Given the description of an element on the screen output the (x, y) to click on. 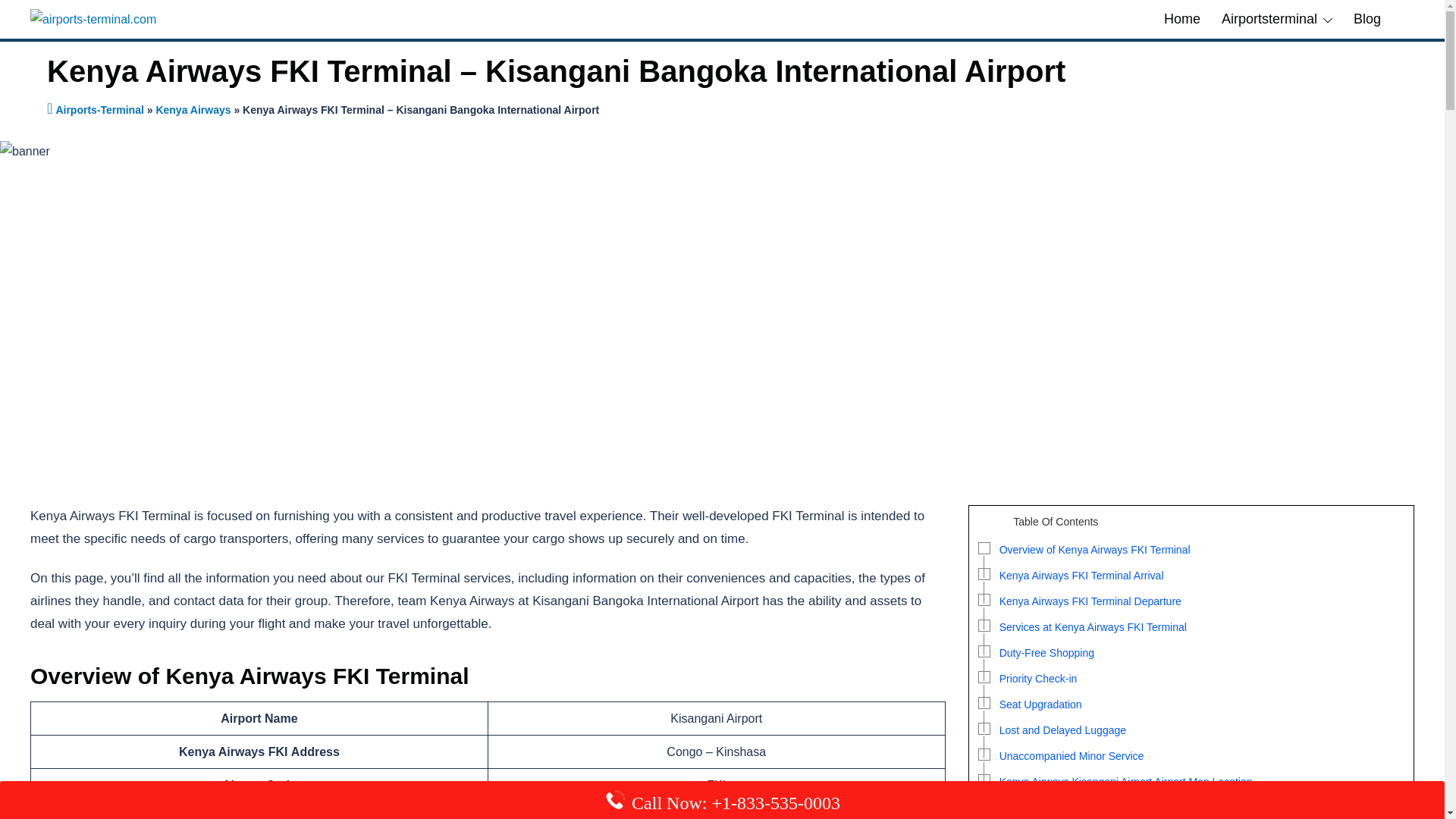
airports-terminal.com (92, 18)
Home (1181, 19)
Blog (1367, 19)
Airportsterminal (1269, 19)
